Given the description of an element on the screen output the (x, y) to click on. 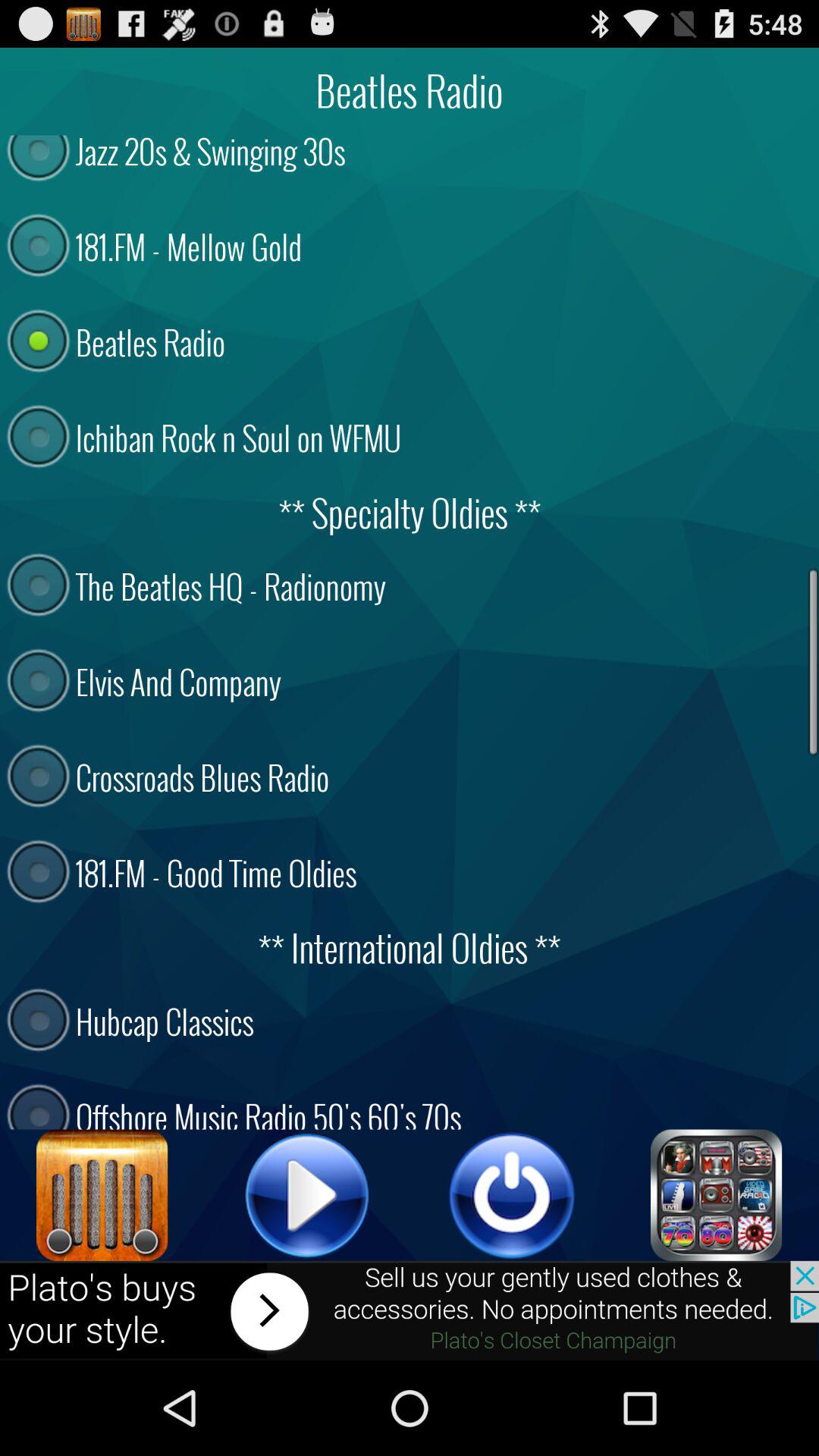
play (306, 1194)
